Given the description of an element on the screen output the (x, y) to click on. 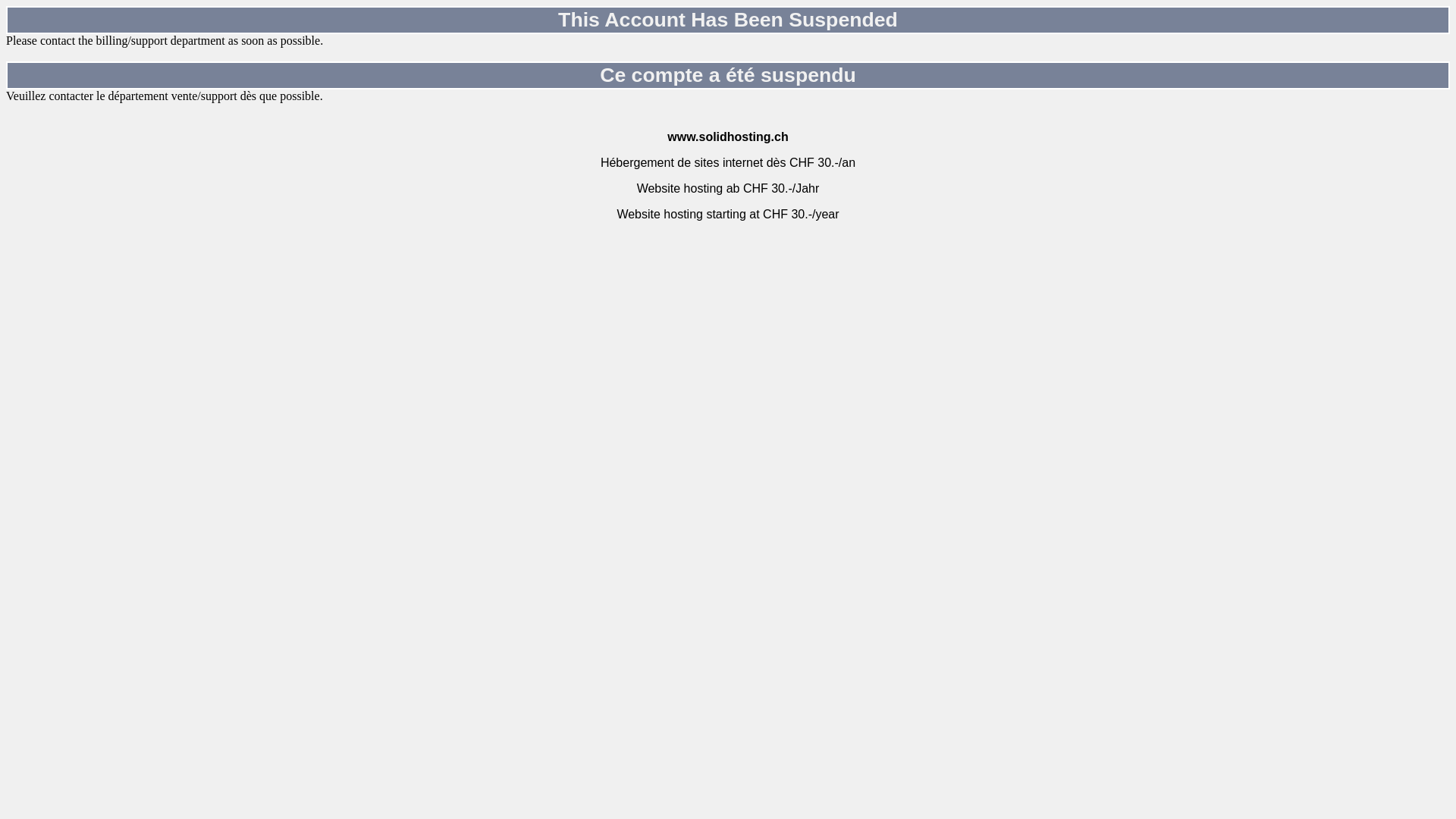
www.solidhosting.ch Element type: text (727, 136)
